Given the description of an element on the screen output the (x, y) to click on. 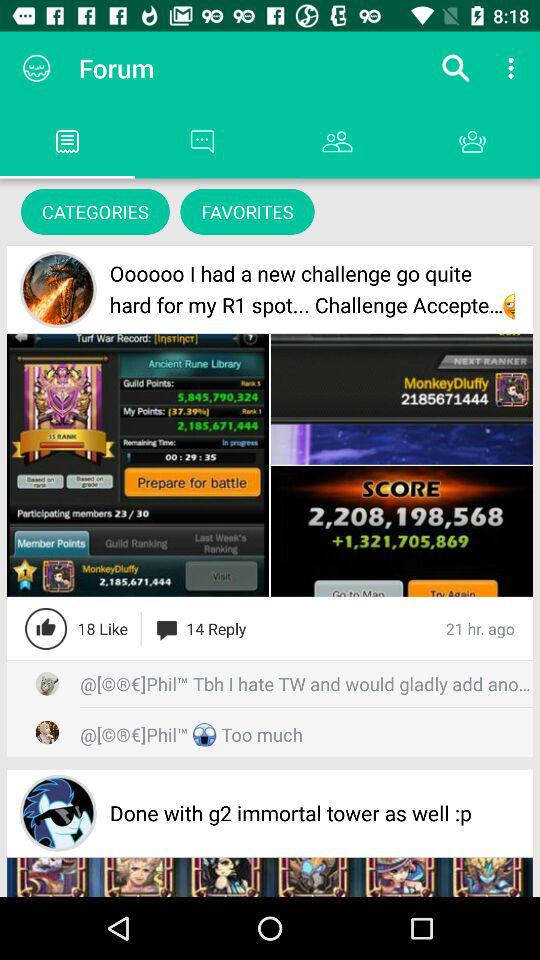
turn off the app next to forum (455, 67)
